Given the description of an element on the screen output the (x, y) to click on. 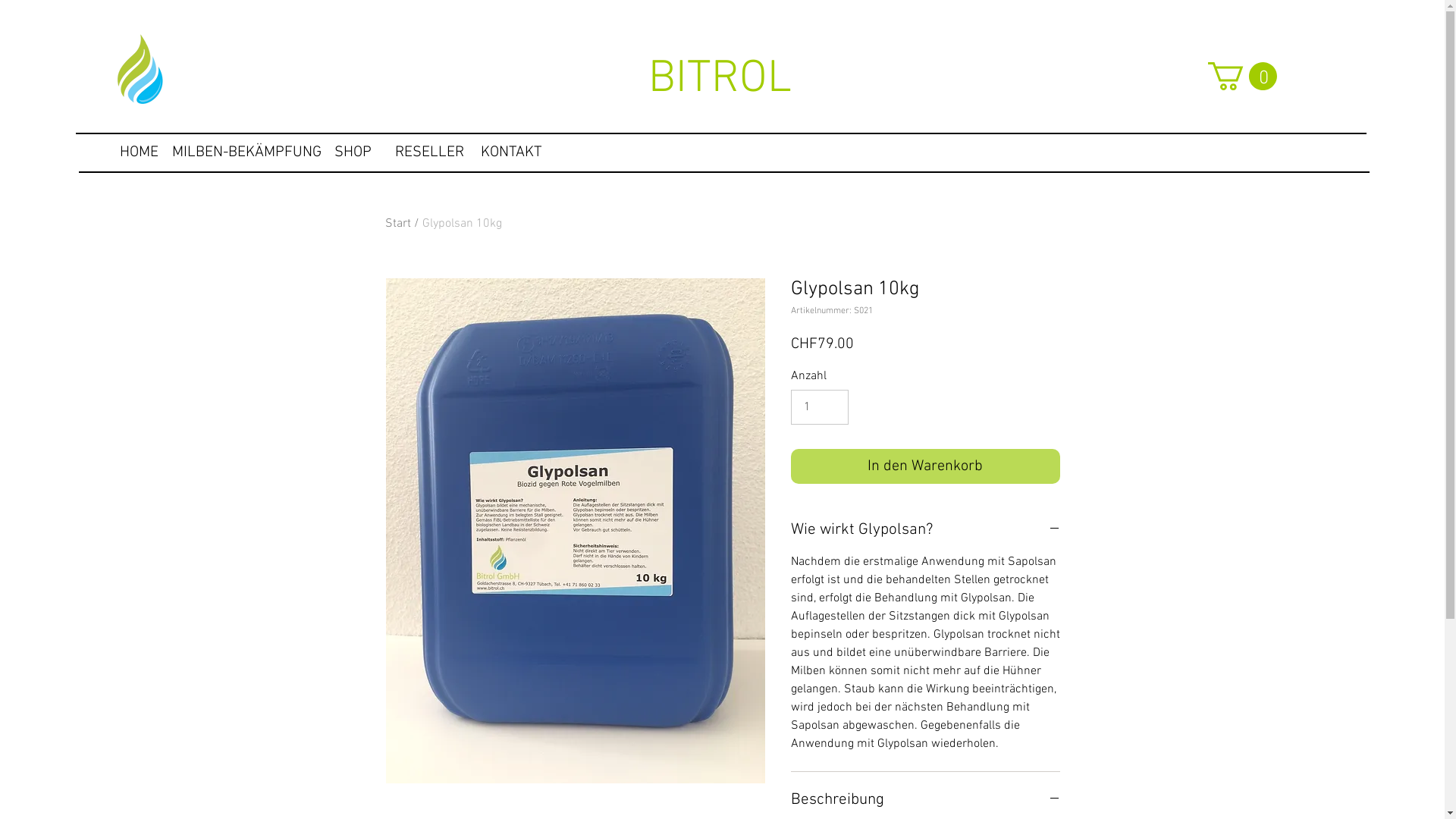
SHOP Element type: text (351, 152)
HOME Element type: text (138, 152)
0 Element type: text (1241, 76)
Glypolsan 10kg Element type: text (461, 223)
Beschreibung Element type: text (924, 799)
In den Warenkorb Element type: text (924, 465)
RESELLER Element type: text (429, 152)
Start Element type: text (398, 223)
KONTAKT Element type: text (510, 152)
Wie wirkt Glypolsan? Element type: text (924, 529)
bitrol logo ohne hintergrund.png Element type: hover (138, 69)
